Given the description of an element on the screen output the (x, y) to click on. 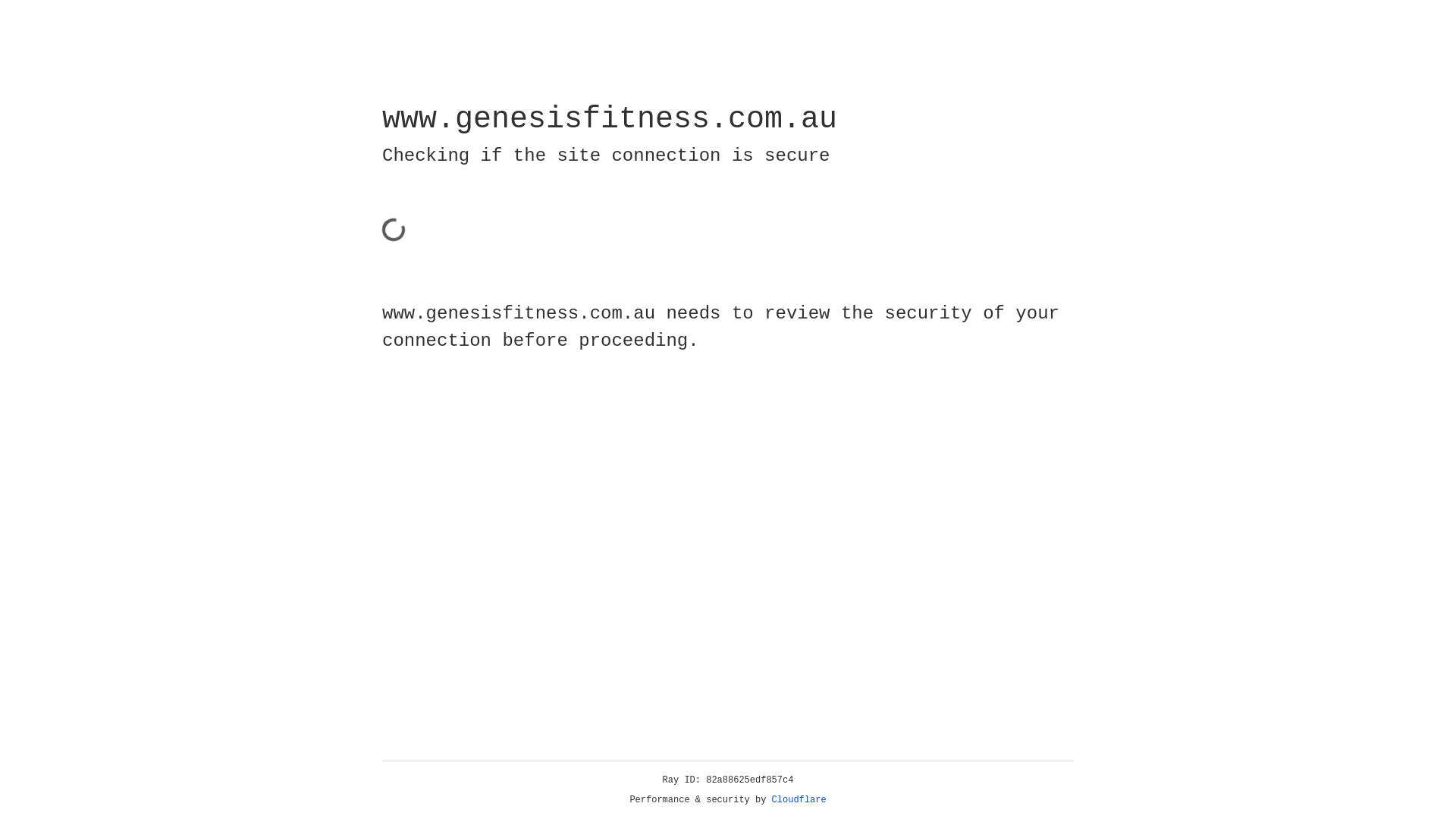
Cloudflare Element type: text (798, 799)
